Given the description of an element on the screen output the (x, y) to click on. 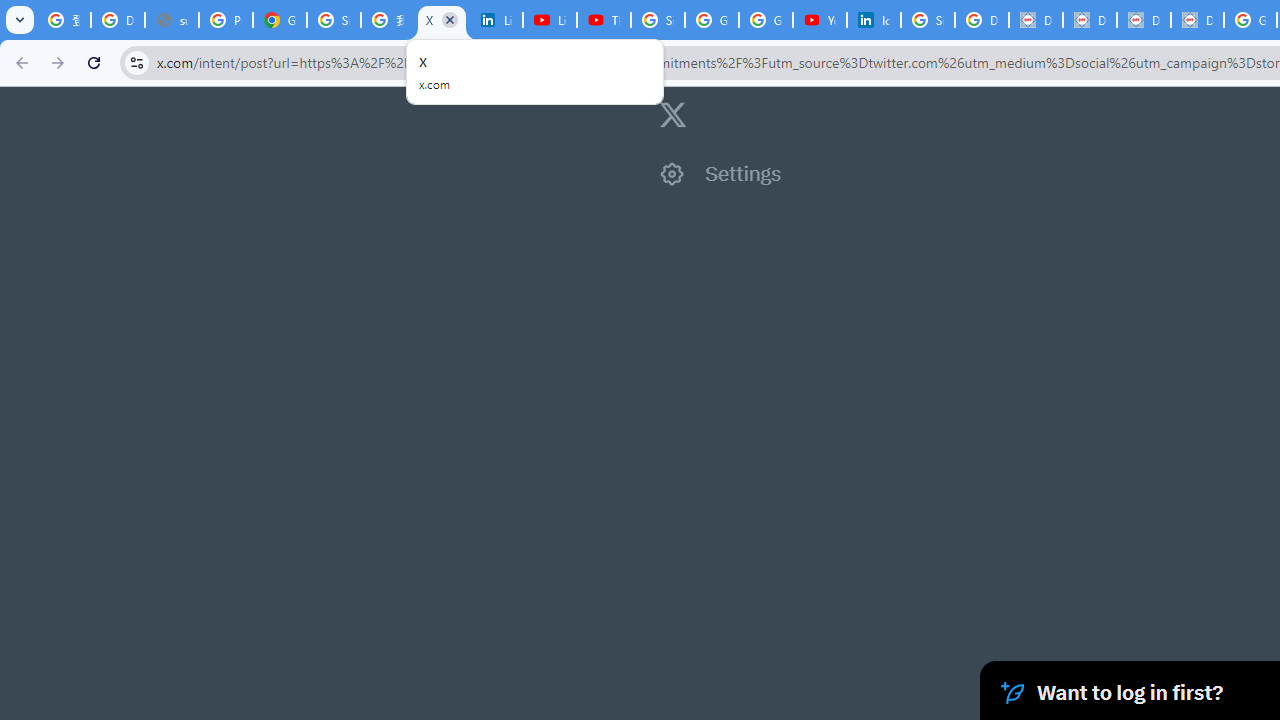
X (441, 20)
Sign in - Google Accounts (333, 20)
Data Privacy Framework (1035, 20)
LinkedIn - YouTube (550, 20)
LinkedIn Privacy Policy (495, 20)
Privacy Help Center - Policies Help (225, 20)
Data Privacy Framework (1144, 20)
